Given the description of an element on the screen output the (x, y) to click on. 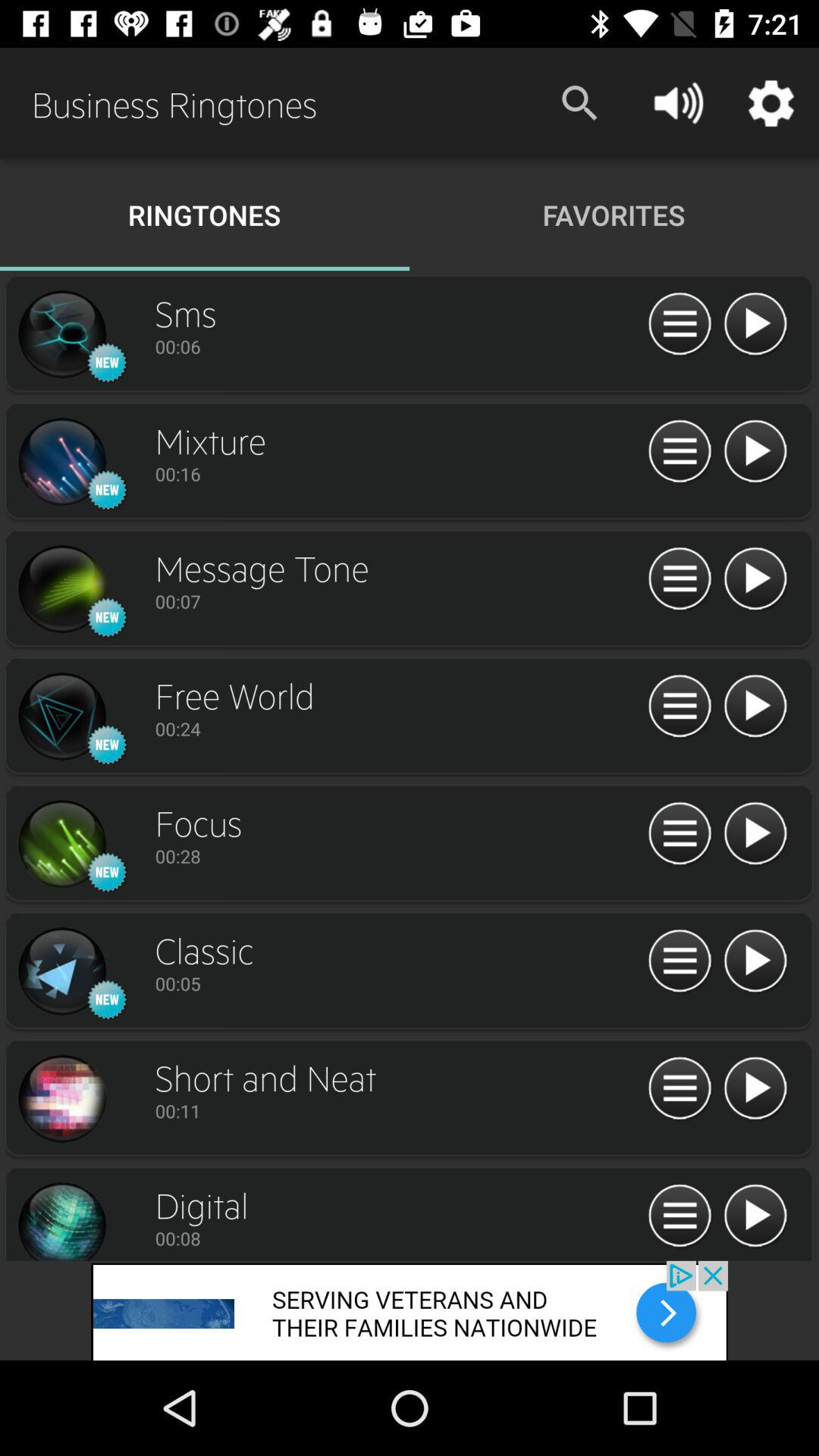
toggle the advertisement option (679, 961)
